Given the description of an element on the screen output the (x, y) to click on. 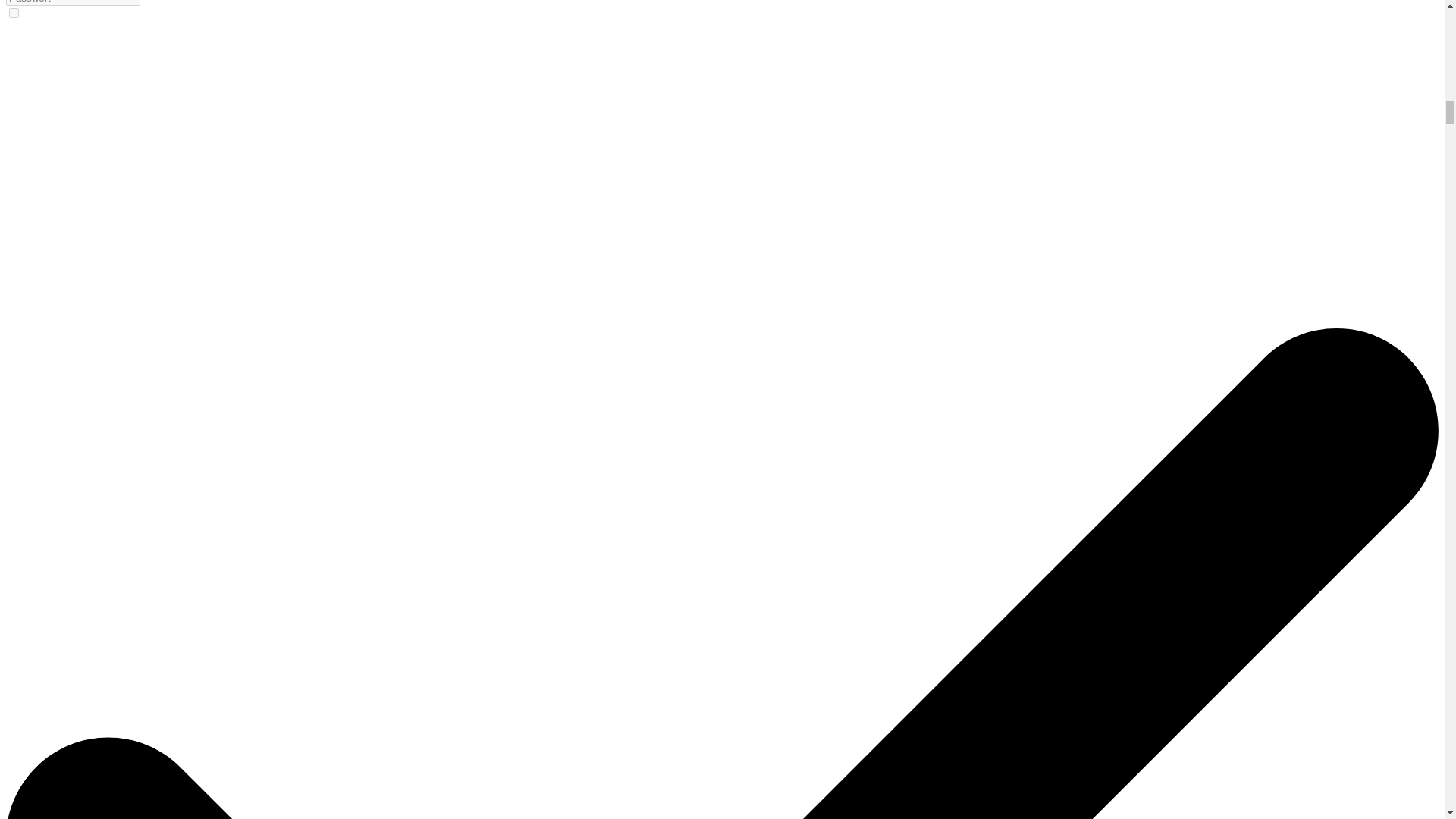
on (13, 13)
